Given the description of an element on the screen output the (x, y) to click on. 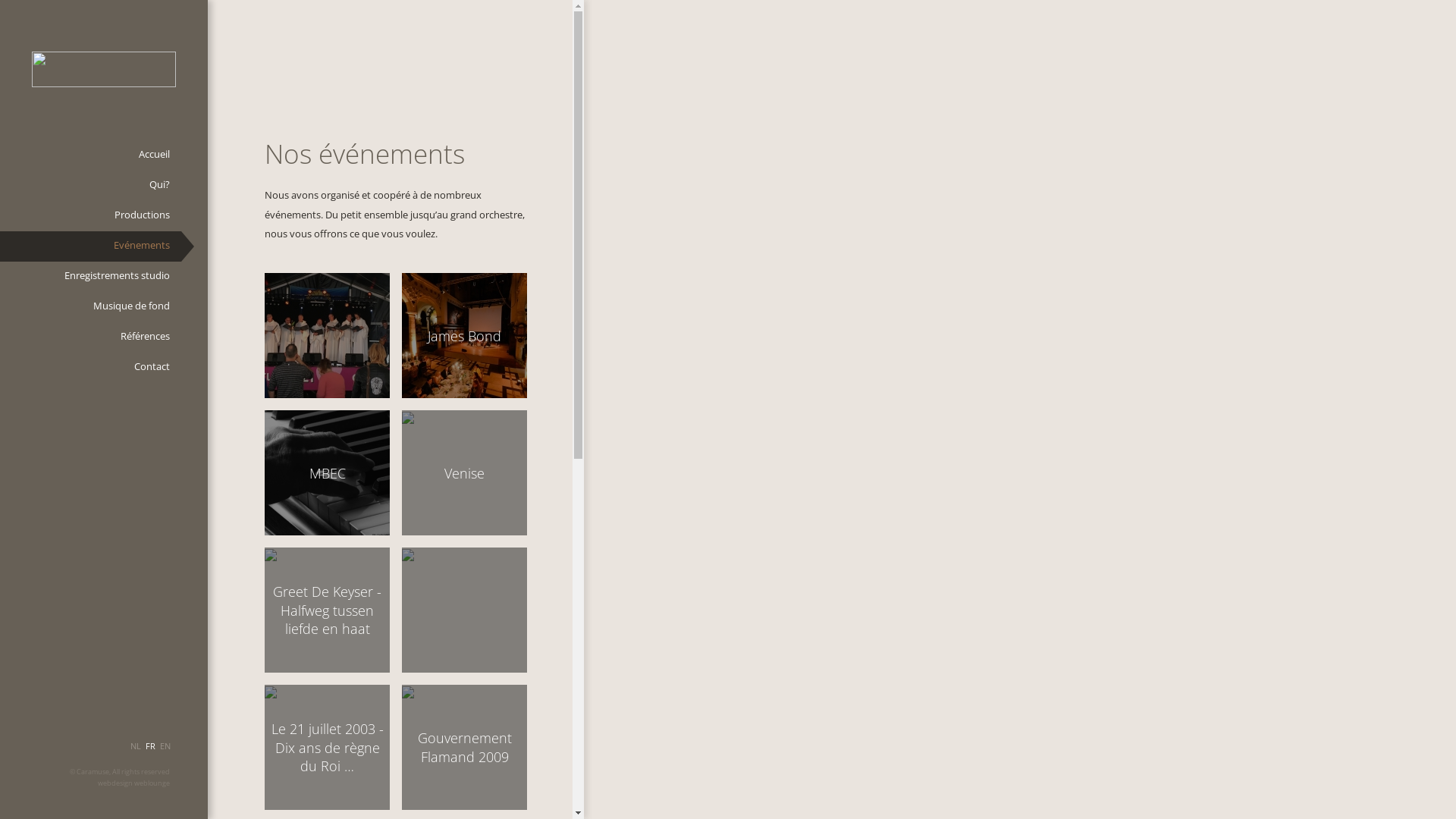
EN Element type: text (164, 751)
Productions Element type: text (90, 215)
webdesign weblounge Element type: text (133, 782)
Greet De Keyser - Halfweg tussen liefde en haat Element type: text (326, 609)
Enregistrements studio Element type: text (90, 276)
Venise Element type: text (464, 472)
Contact Element type: text (90, 367)
Musique de fond Element type: text (90, 306)
Gouvernement Flamand 2009 Element type: text (464, 746)
Accueil Element type: text (90, 155)
NL Element type: text (135, 751)
James Bond Element type: text (464, 335)
Qui? Element type: text (90, 185)
MBEC Element type: text (326, 472)
FR Element type: text (150, 751)
